Given the description of an element on the screen output the (x, y) to click on. 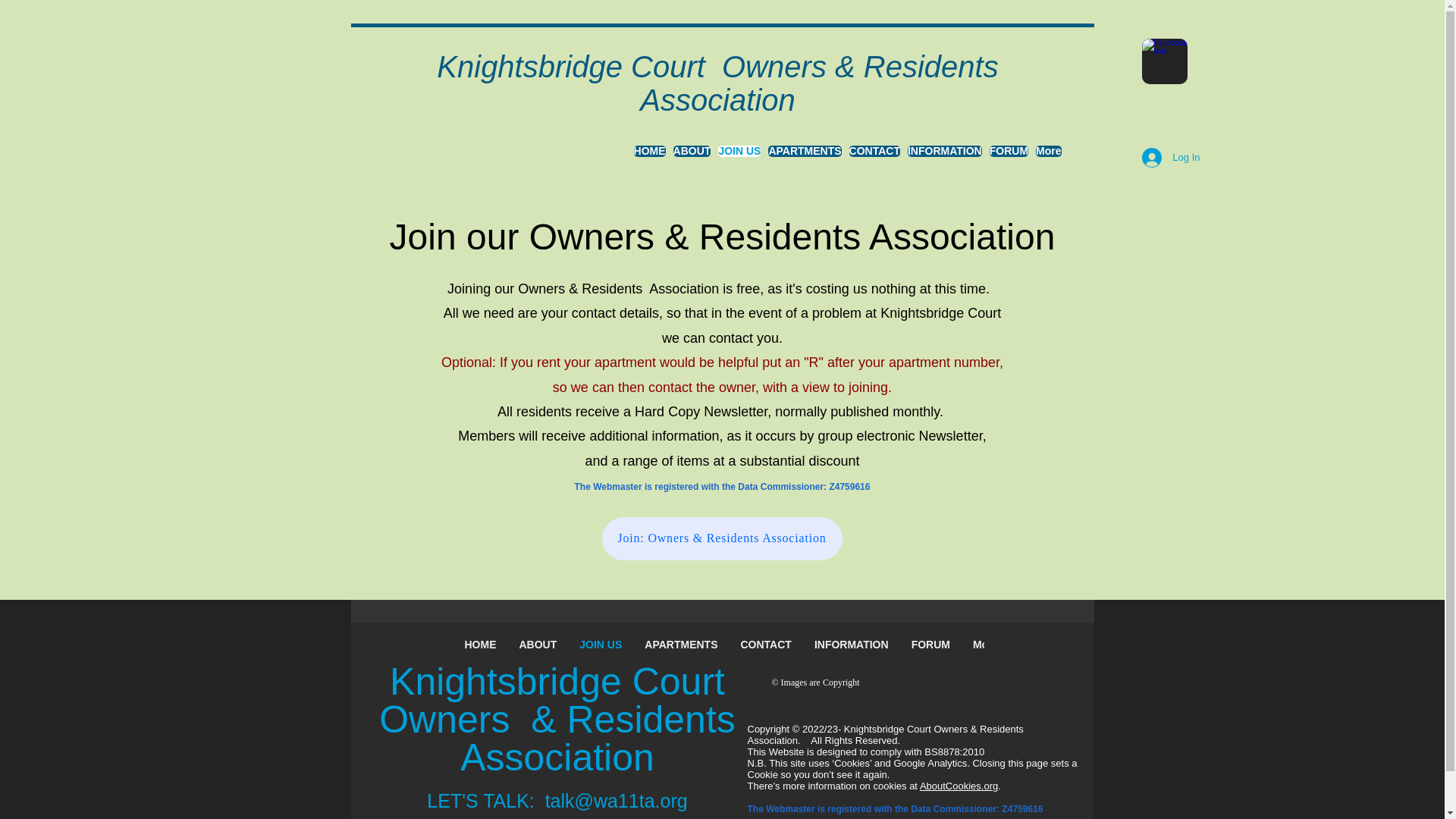
ABOUT (538, 646)
CONTACT (765, 646)
APARTMENTS (681, 646)
Log In (1170, 157)
FORUM (929, 646)
ABOUT (691, 156)
CONTACT (873, 156)
AboutCookies.org (958, 785)
APARTMENTS (804, 156)
INFORMATION (944, 156)
